Given the description of an element on the screen output the (x, y) to click on. 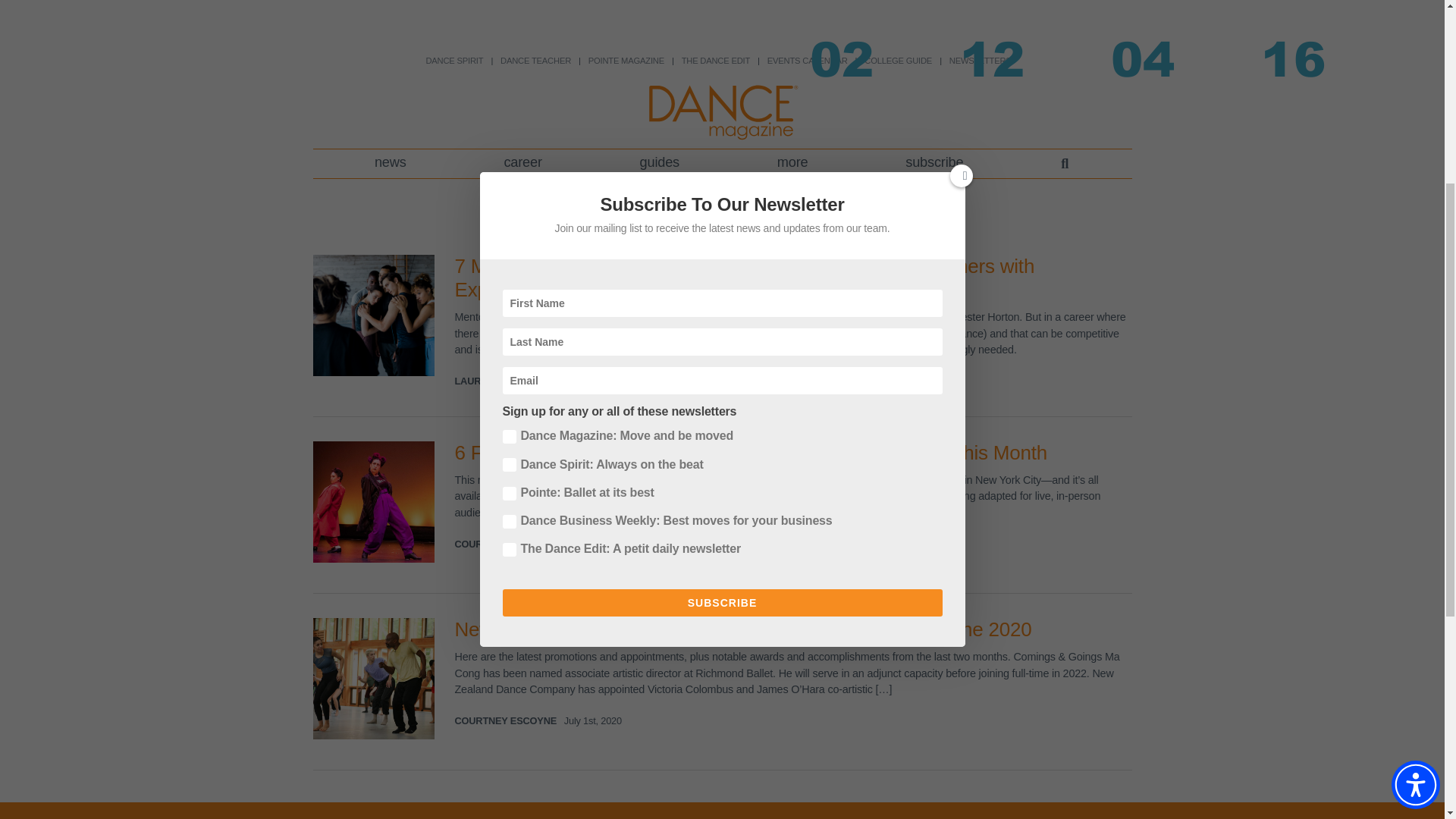
subscribe (934, 163)
DANCE SPIRIT (454, 60)
Accessibility Menu (1415, 458)
Posts by Courtney Escoyne (505, 720)
COLLEGE GUIDE (897, 60)
Posts by Lauren Wingenroth (508, 380)
THE DANCE EDIT (715, 60)
DANCE TEACHER (535, 60)
EVENTS CALENDAR (807, 60)
more (791, 163)
guides (658, 163)
Posts by Courtney Escoyne (505, 543)
news (390, 163)
